Given the description of an element on the screen output the (x, y) to click on. 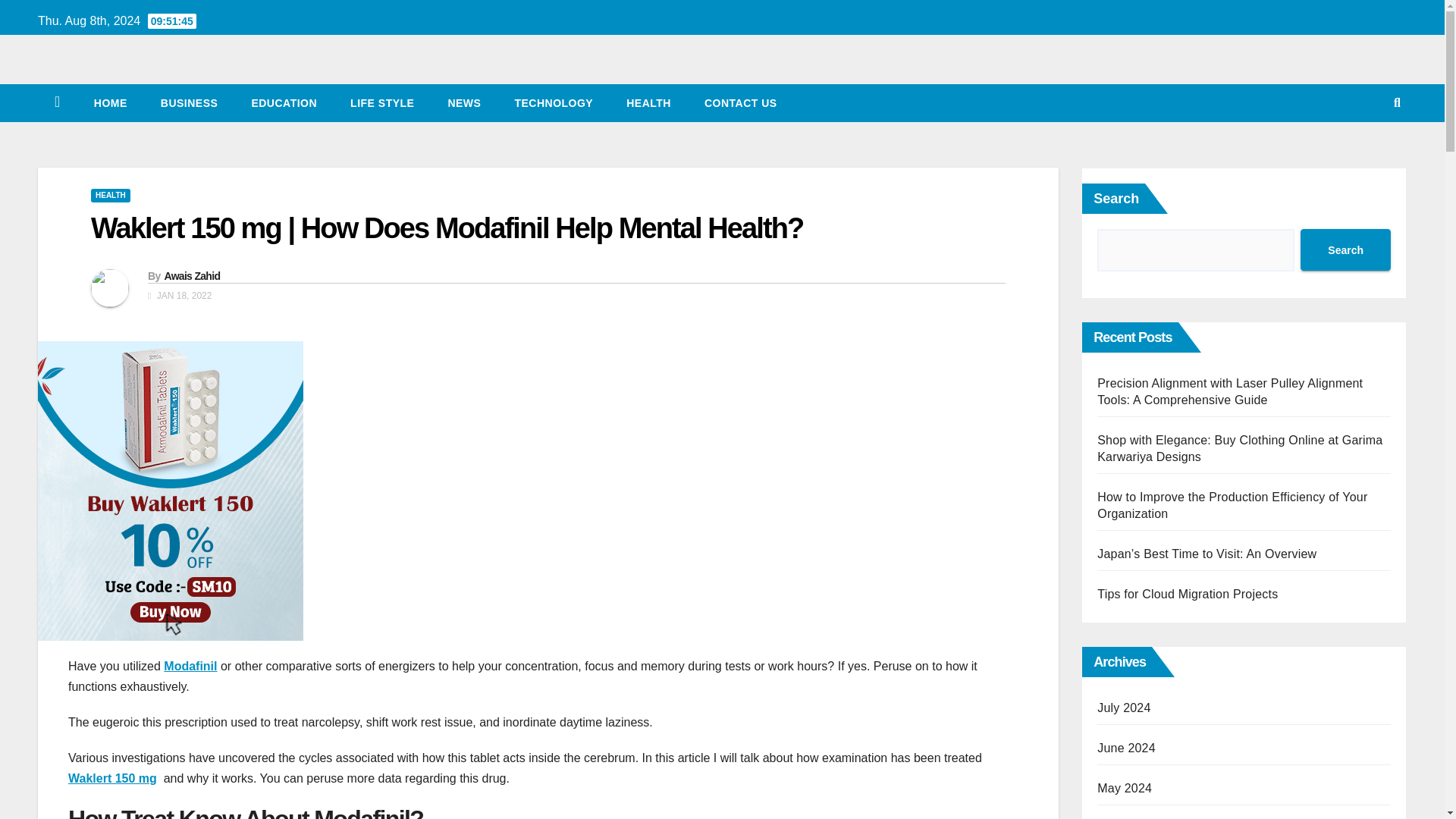
NEWS (463, 103)
HEALTH (110, 195)
Modafinil (189, 666)
Business (189, 103)
Home (110, 103)
HOME (110, 103)
News (463, 103)
CONTACT US (740, 103)
BUSINESS (189, 103)
Technology (553, 103)
